Given the description of an element on the screen output the (x, y) to click on. 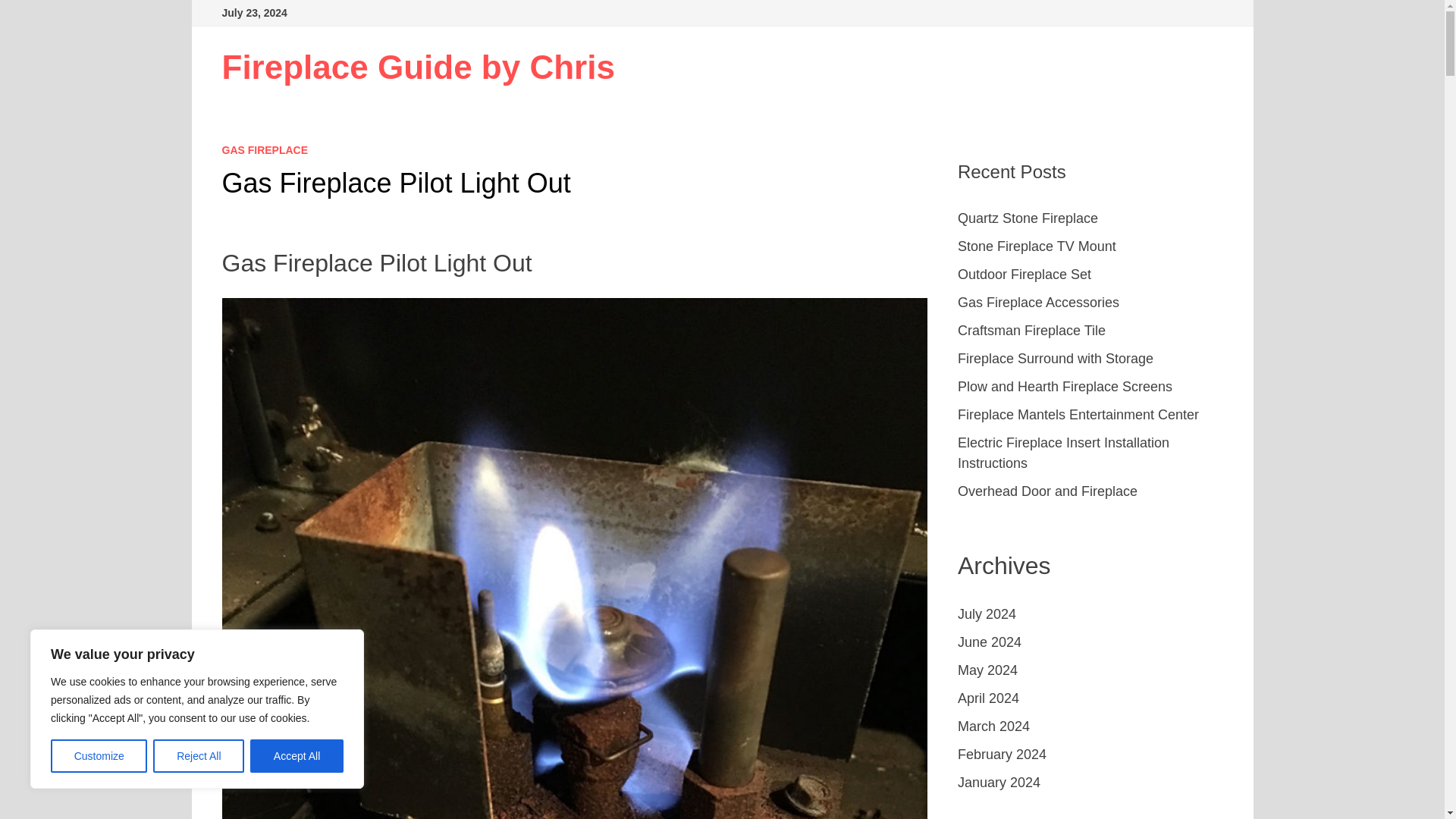
Reject All (198, 756)
GAS FIREPLACE (264, 150)
Customize (98, 756)
Accept All (296, 756)
Fireplace Guide by Chris (417, 66)
